Given the description of an element on the screen output the (x, y) to click on. 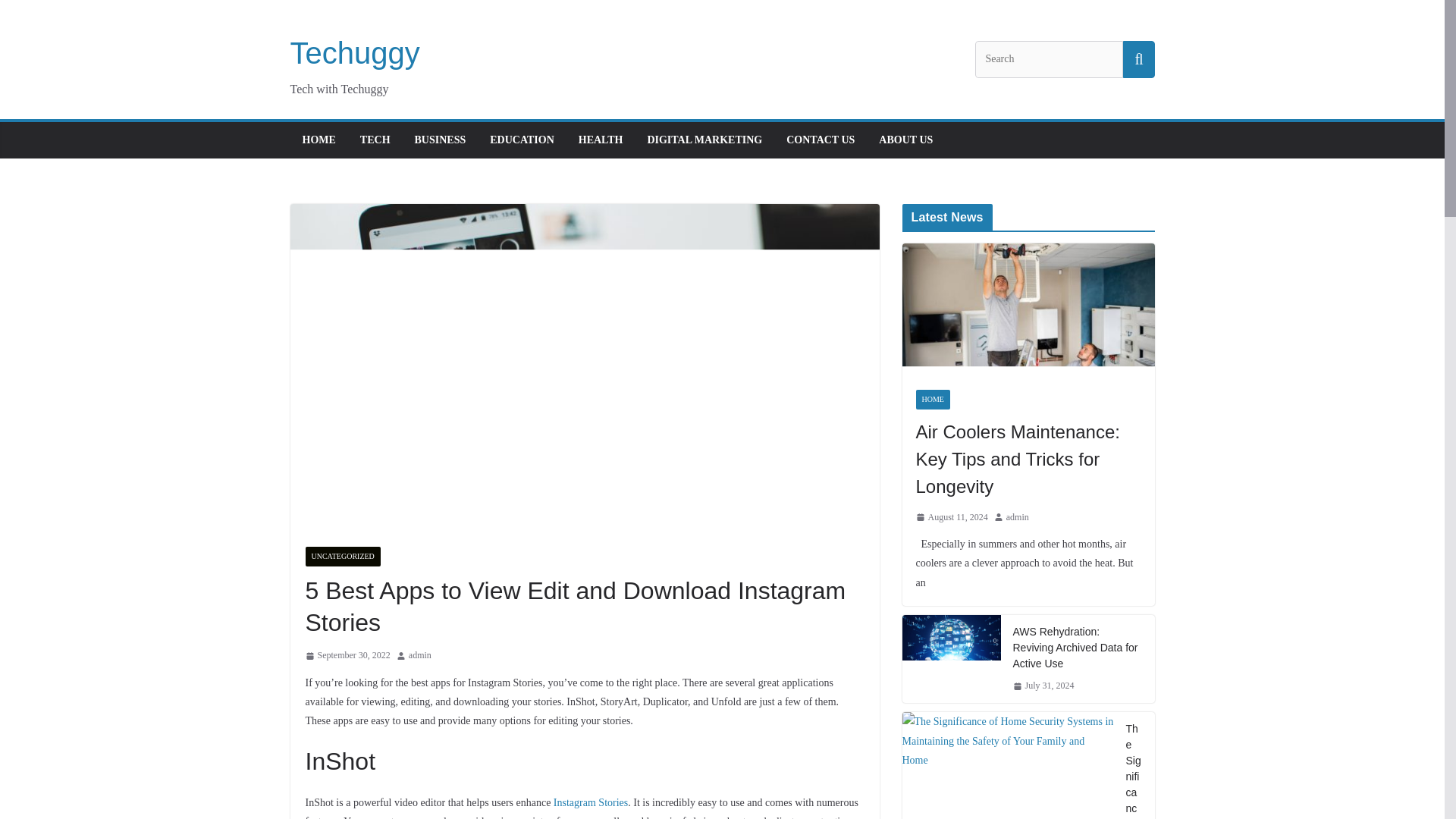
Air Coolers Maintenance: Key Tips and Tricks for Longevity (1028, 459)
UNCATEGORIZED (342, 556)
July 31, 2024 (1043, 686)
12:30 am (1043, 686)
AWS Rehydration: Reviving Archived Data for Active Use (1077, 647)
AWS Rehydration: Reviving Archived Data for Active Use (951, 649)
HOME (932, 399)
admin (419, 655)
Air Coolers Maintenance: Key Tips and Tricks for Longevity (1028, 309)
Techuggy (354, 52)
